Given the description of an element on the screen output the (x, y) to click on. 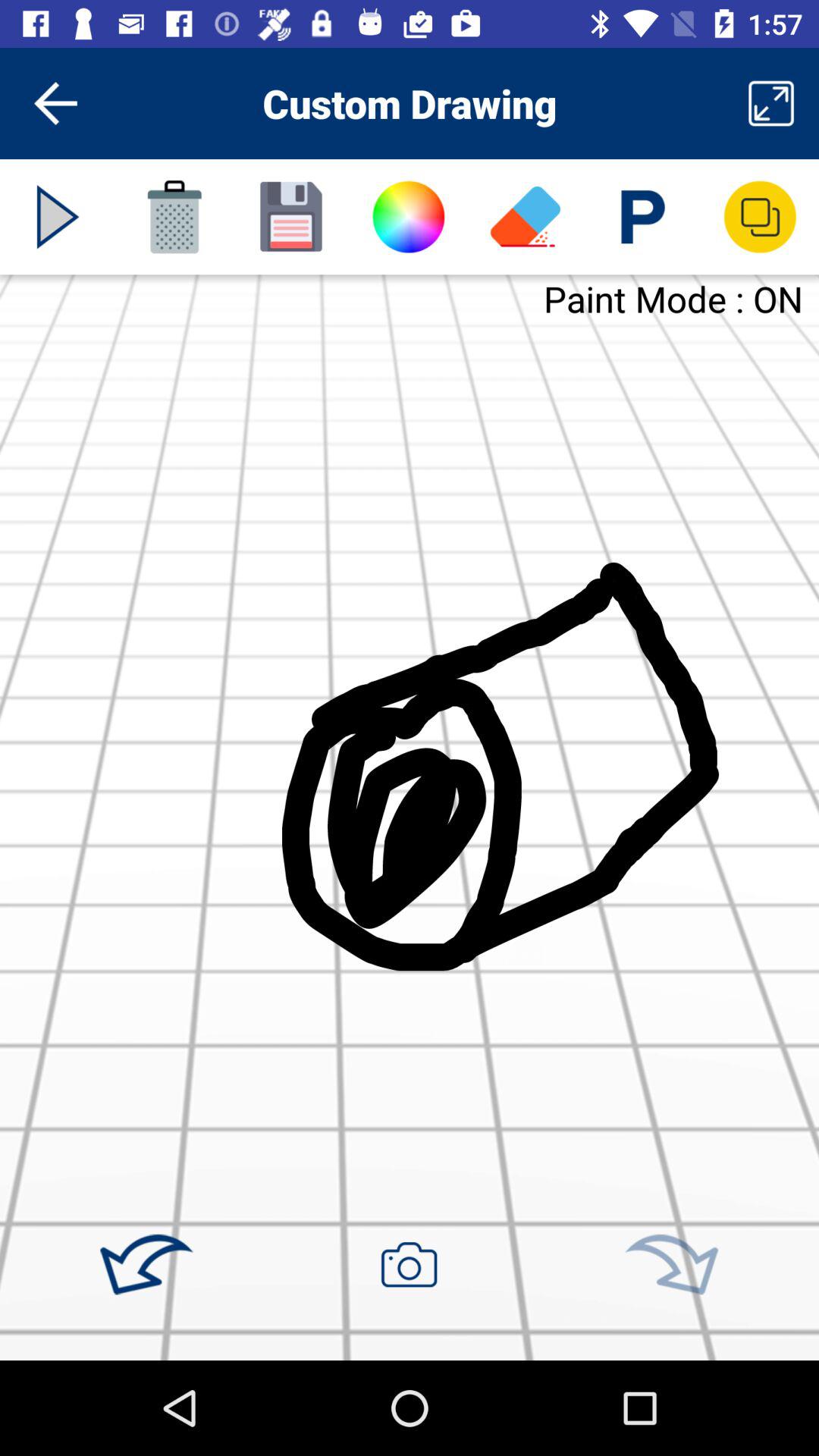
undo action (146, 1264)
